Given the description of an element on the screen output the (x, y) to click on. 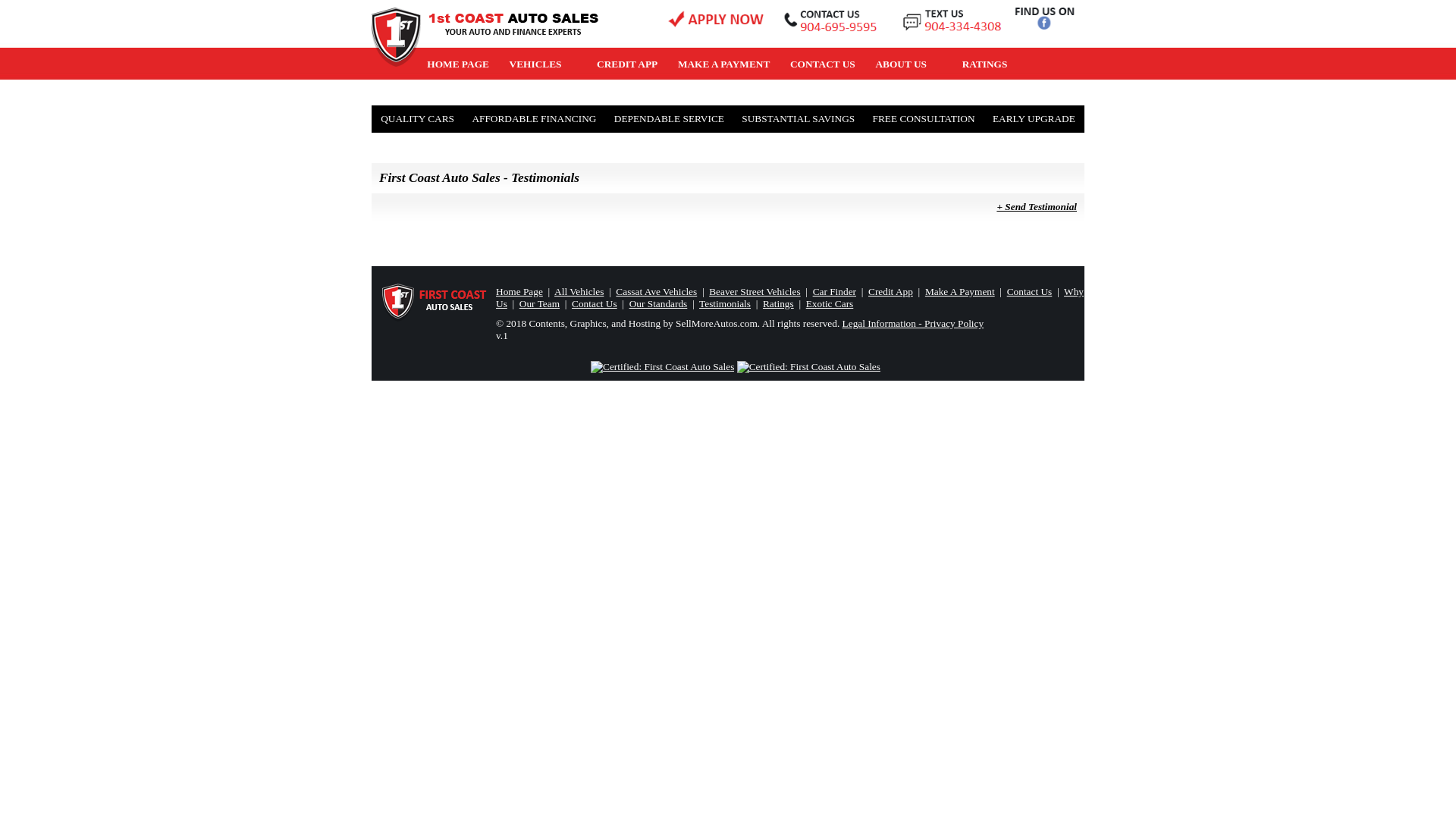
Car Finder Element type: text (834, 291)
Make A Payment Element type: text (959, 291)
Credit App Element type: text (890, 291)
Our Standards Element type: text (658, 303)
VEHICLES Element type: text (542, 64)
Contact Us Element type: text (594, 303)
MAKE A PAYMENT Element type: text (724, 64)
CONTACT US Element type: text (822, 64)
CREDIT APP Element type: text (627, 64)
DEPENDABLE SERVICE Element type: text (668, 118)
EXOTIC CARS Element type: text (462, 86)
Testimonials Element type: text (724, 303)
Ratings Element type: text (777, 303)
Exotic Cars Element type: text (829, 303)
Legal Information - Privacy Policy Element type: text (913, 323)
Our Team Element type: text (539, 303)
ABOUT US Element type: text (908, 64)
+ Send Testimonial Element type: text (727, 206)
Beaver Street Vehicles Element type: text (754, 291)
Contact Us Element type: text (1029, 291)
HOME PAGE Element type: text (457, 64)
Certified: First Coast Auto Sales Element type: hover (808, 366)
QUALITY CARS Element type: text (417, 118)
Why Us Element type: text (789, 297)
Home Page Element type: text (518, 291)
EARLY UPGRADE Element type: text (1033, 118)
RATINGS Element type: text (983, 64)
FREE CONSULTATION Element type: text (923, 118)
Certified: First Coast Auto Sales Element type: hover (662, 366)
Cassat Ave Vehicles Element type: text (655, 291)
SUBSTANTIAL SAVINGS Element type: text (798, 118)
All Vehicles Element type: text (578, 291)
AFFORDABLE FINANCING Element type: text (533, 118)
